Given the description of an element on the screen output the (x, y) to click on. 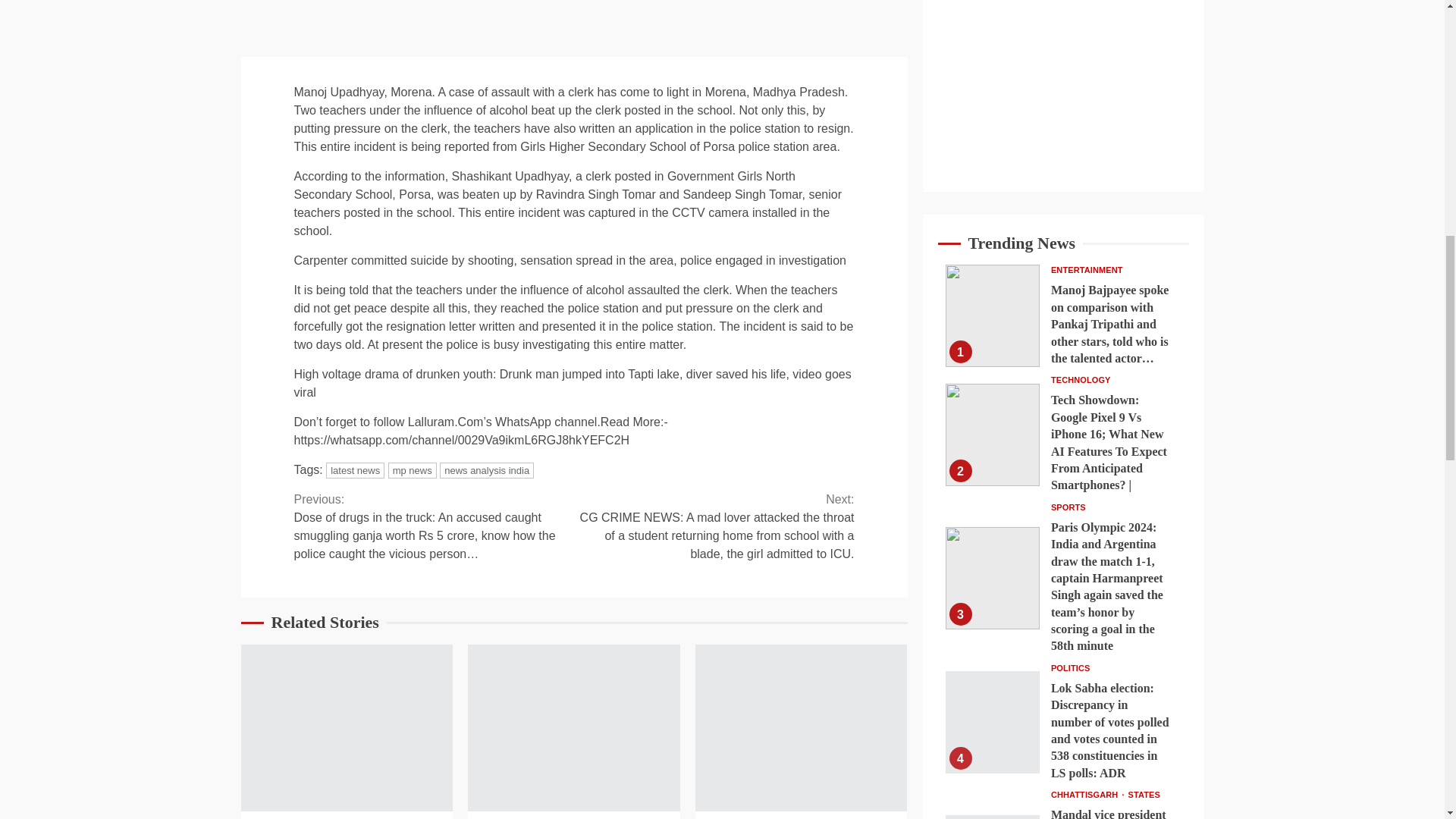
latest news (355, 470)
news analysis india (486, 470)
mp news (412, 470)
